Given the description of an element on the screen output the (x, y) to click on. 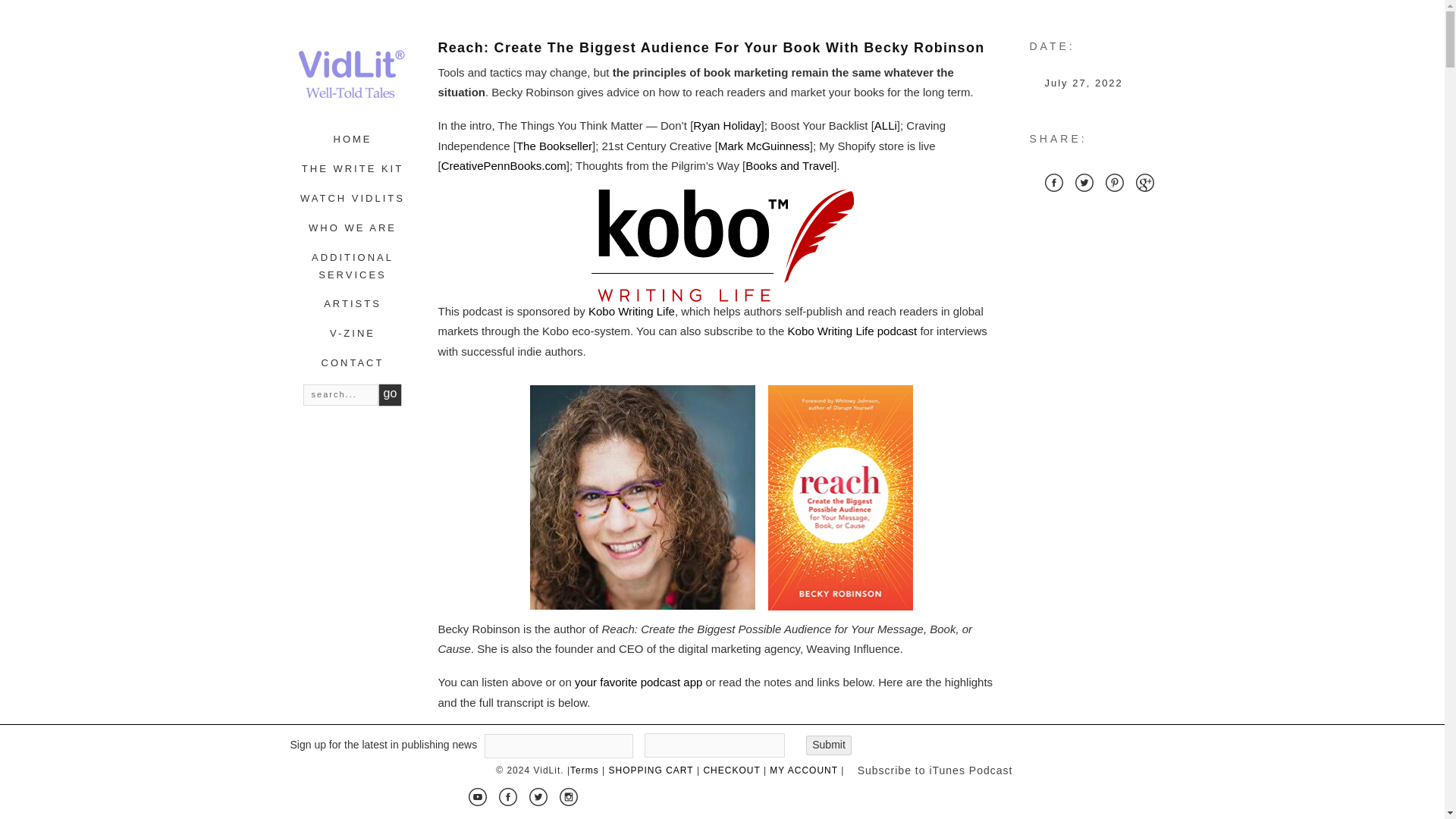
search... (340, 394)
Mark McGuinness (763, 145)
ARTISTS (352, 303)
The Bookseller (554, 145)
Kobo Writing Life (631, 310)
HOME (352, 138)
V-ZINE (352, 333)
ADDITIONAL SERVICES (352, 265)
CONTACT (352, 362)
Books and Travel (788, 164)
WATCH VIDLITS (351, 197)
THE WRITE KIT (352, 168)
your favorite podcast app (638, 681)
WHO WE ARE (352, 227)
Ryan Holiday (726, 124)
